Given the description of an element on the screen output the (x, y) to click on. 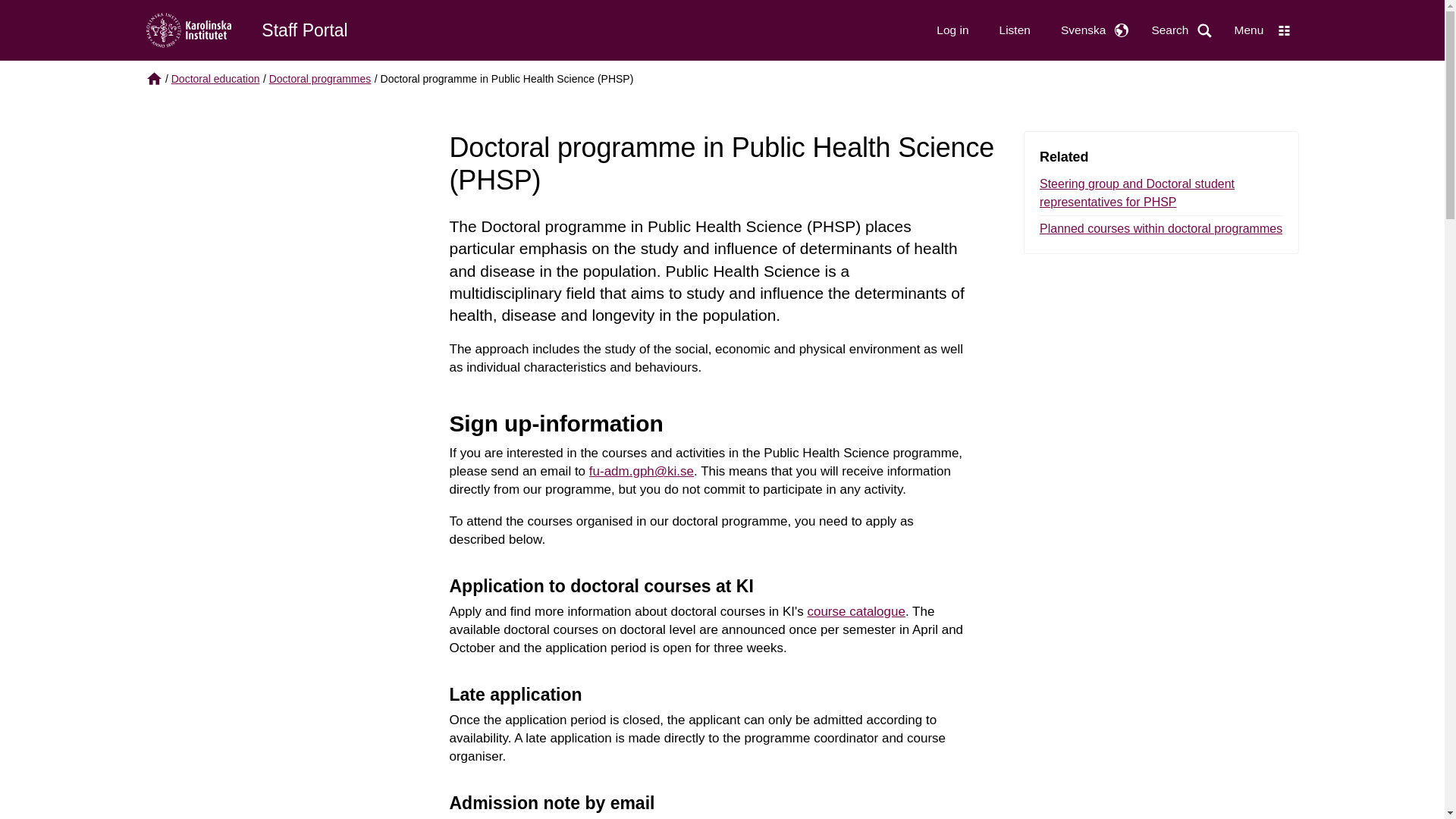
Home (304, 30)
Staff Portal (304, 30)
Log in (952, 30)
Doctoral programmes (320, 78)
Planned courses within doctoral programmes (1160, 226)
Listen (1014, 30)
Steering group and Doctoral student representatives for PHSP (1160, 193)
Doctoral education (215, 78)
course catalogue (855, 611)
